Given the description of an element on the screen output the (x, y) to click on. 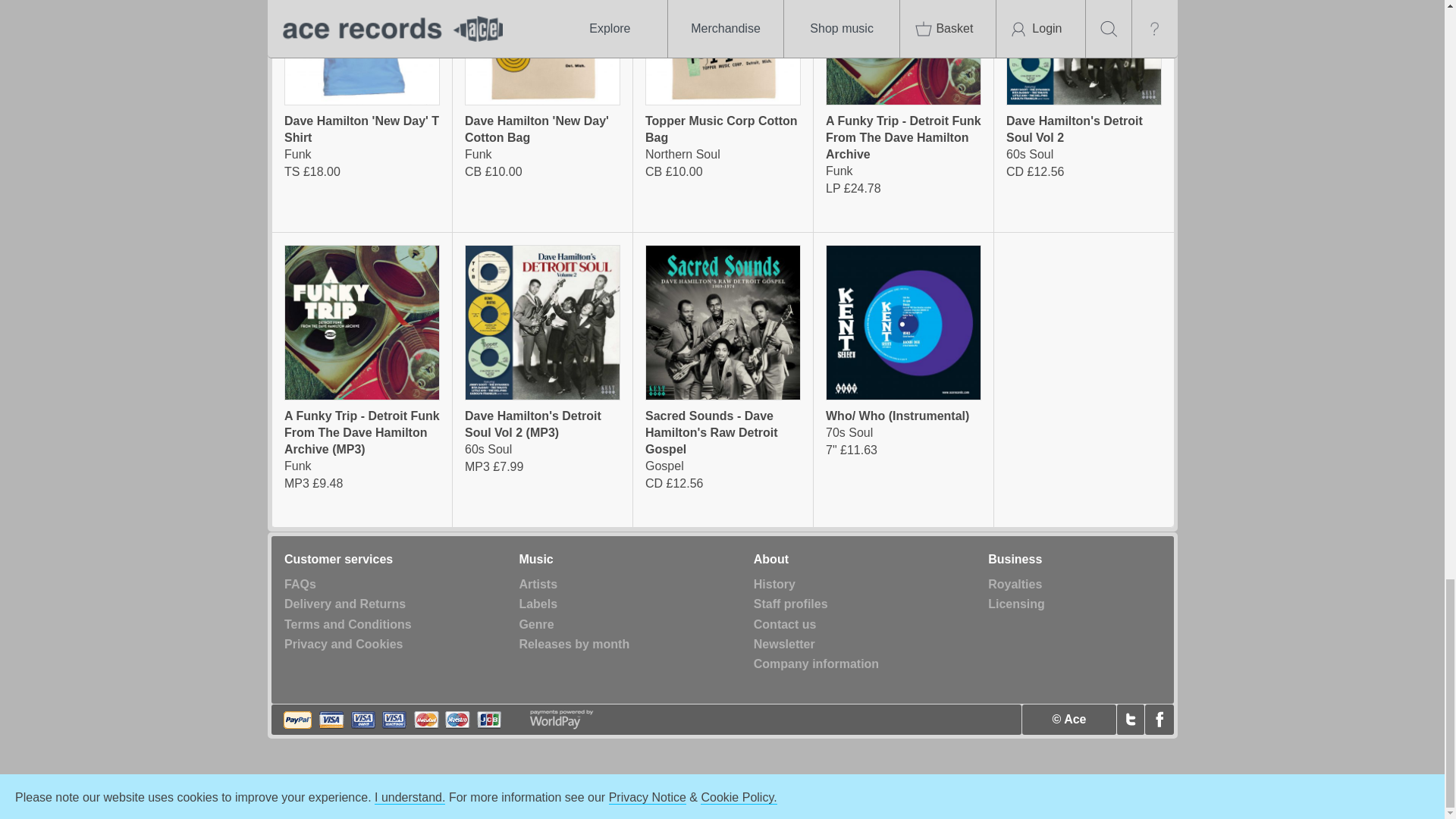
Twitter (1130, 719)
Facebook (1158, 719)
